Given the description of an element on the screen output the (x, y) to click on. 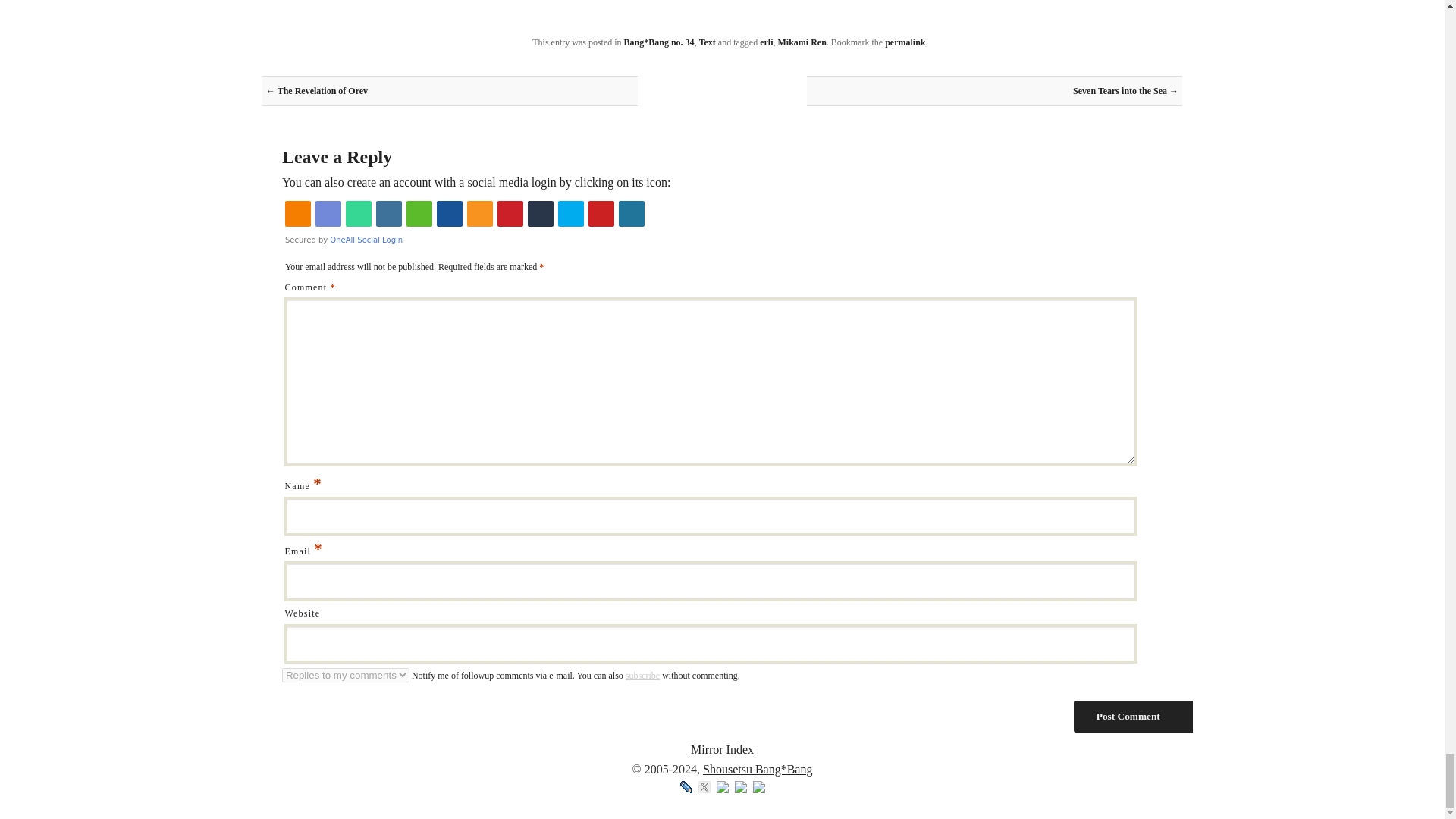
Post Comment (1133, 716)
subscribe (642, 675)
Mikami Ren (802, 41)
permalink (904, 41)
Post Comment (1133, 716)
erli (766, 41)
Mirror Index (722, 748)
Text (707, 41)
